Given the description of an element on the screen output the (x, y) to click on. 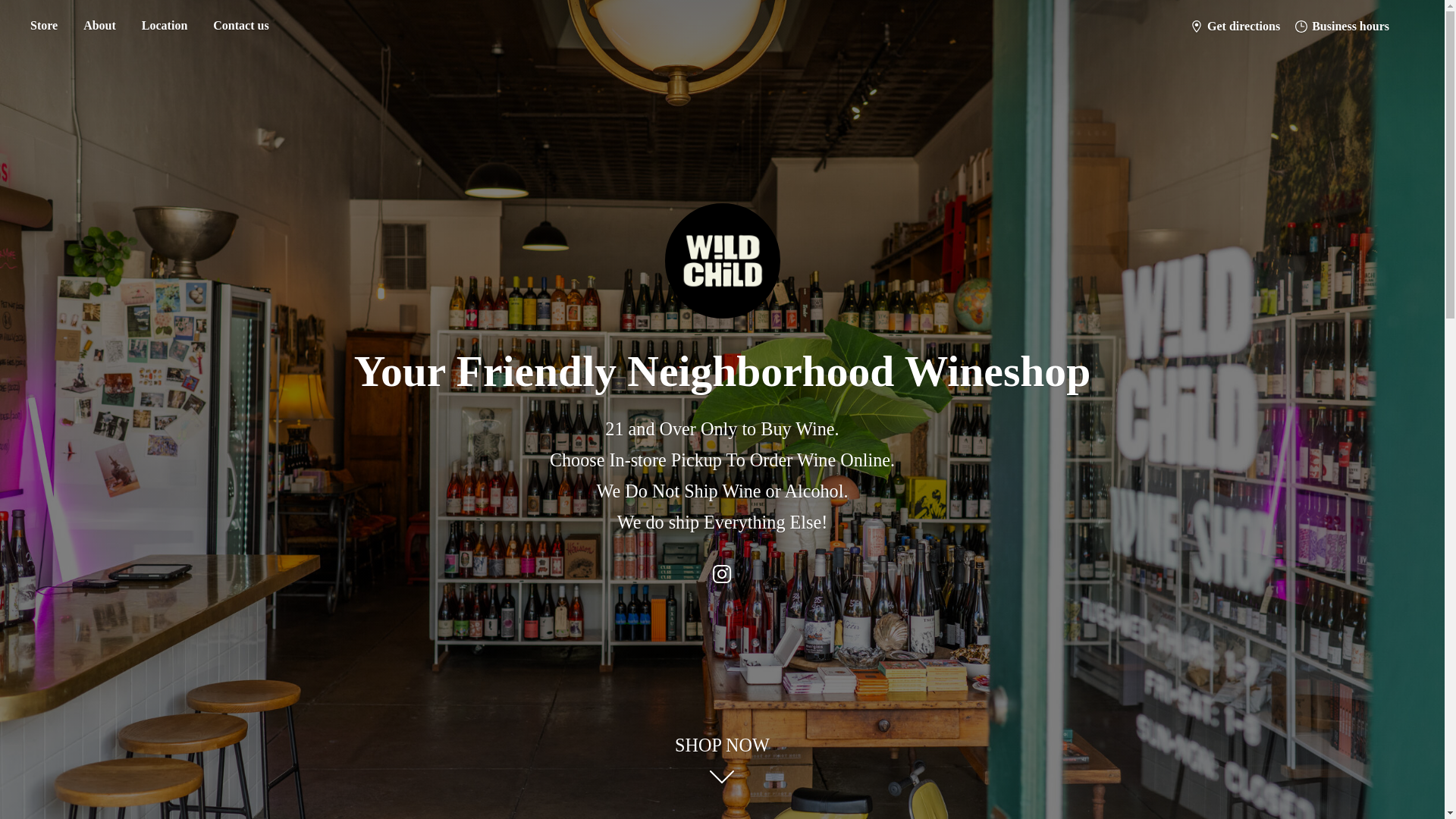
Business hours (1341, 26)
About (99, 25)
Store (43, 25)
Contact us (240, 25)
Get directions (1234, 26)
Location (164, 25)
